Given the description of an element on the screen output the (x, y) to click on. 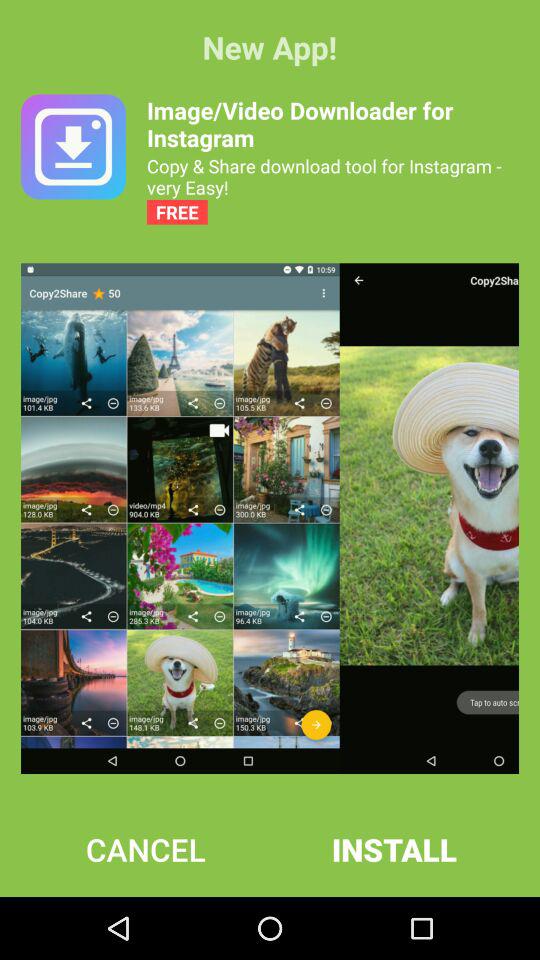
turn off the cancel icon (145, 849)
